Given the description of an element on the screen output the (x, y) to click on. 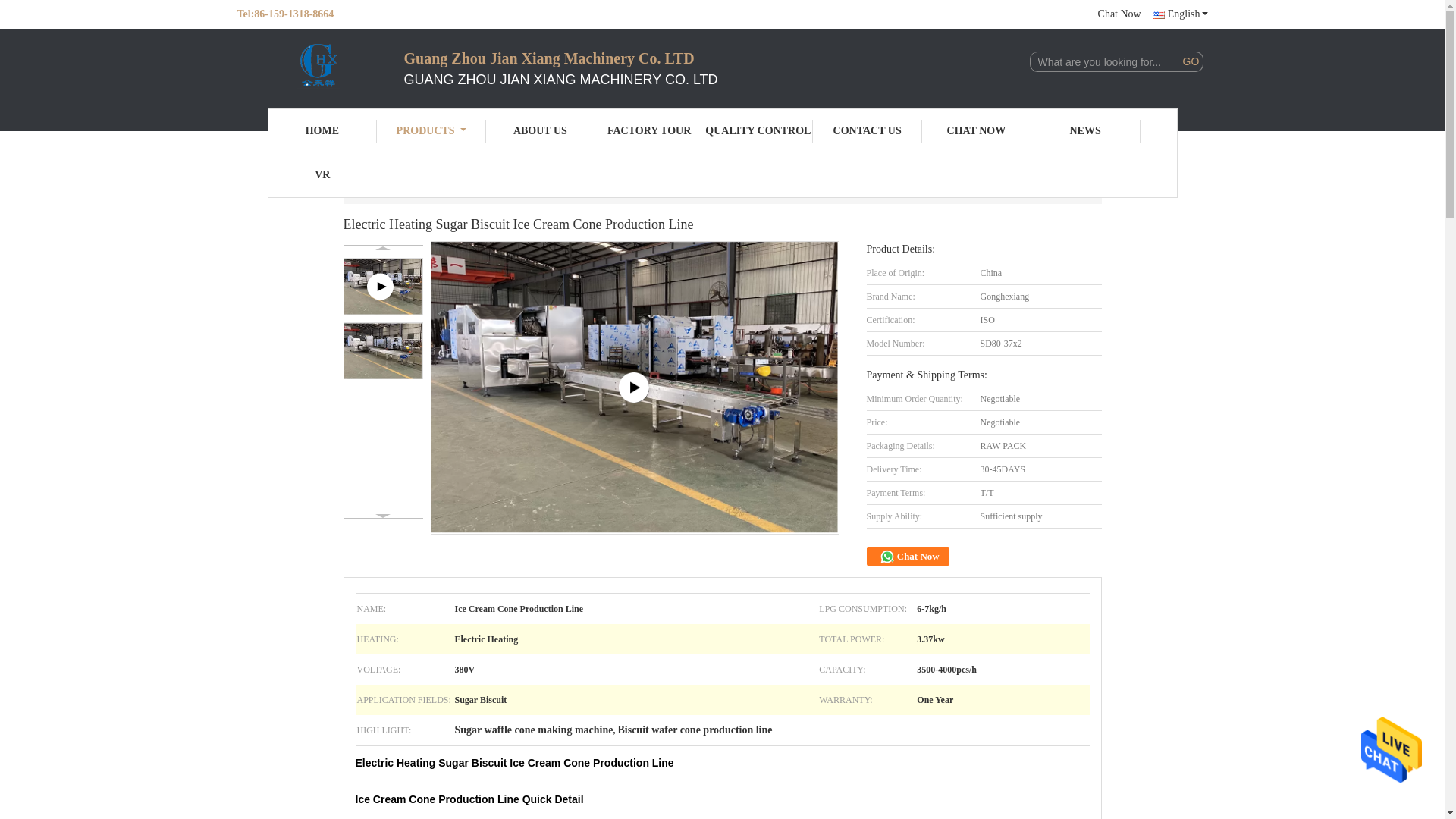
GO (1190, 61)
English (1180, 14)
Guang Zhou Jian Xiang Machinery Co. LTD (431, 130)
Guang Zhou Jian Xiang Machinery Co. LTD (319, 66)
CONTACT US (866, 130)
Chat Now (1119, 14)
PRODUCTS (431, 130)
QUALITY CONTROL (757, 130)
GO (1190, 61)
HOME (322, 130)
ABOUT US (540, 130)
Guang Zhou Jian Xiang Machinery Co. LTD (322, 130)
FACTORY TOUR (649, 130)
